Given the description of an element on the screen output the (x, y) to click on. 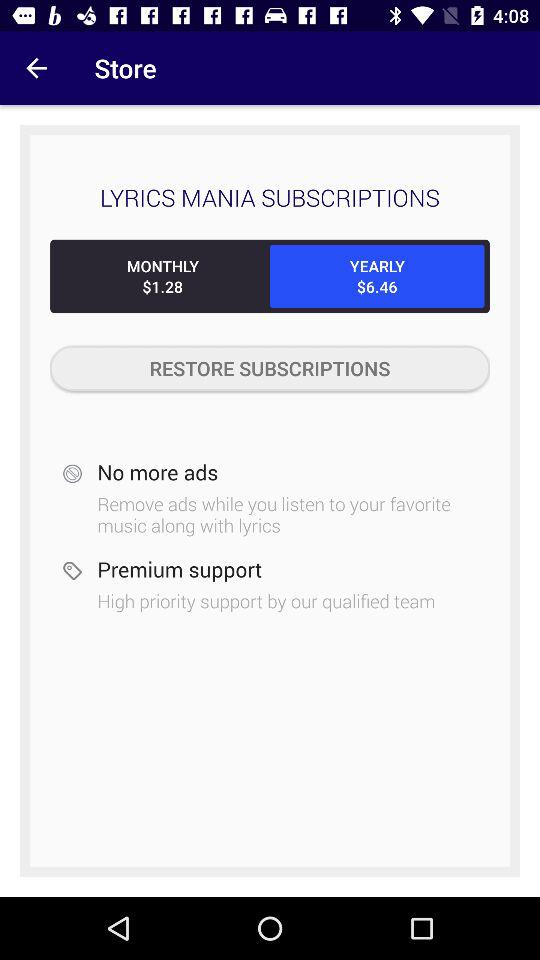
turn off the item next to store (36, 68)
